Given the description of an element on the screen output the (x, y) to click on. 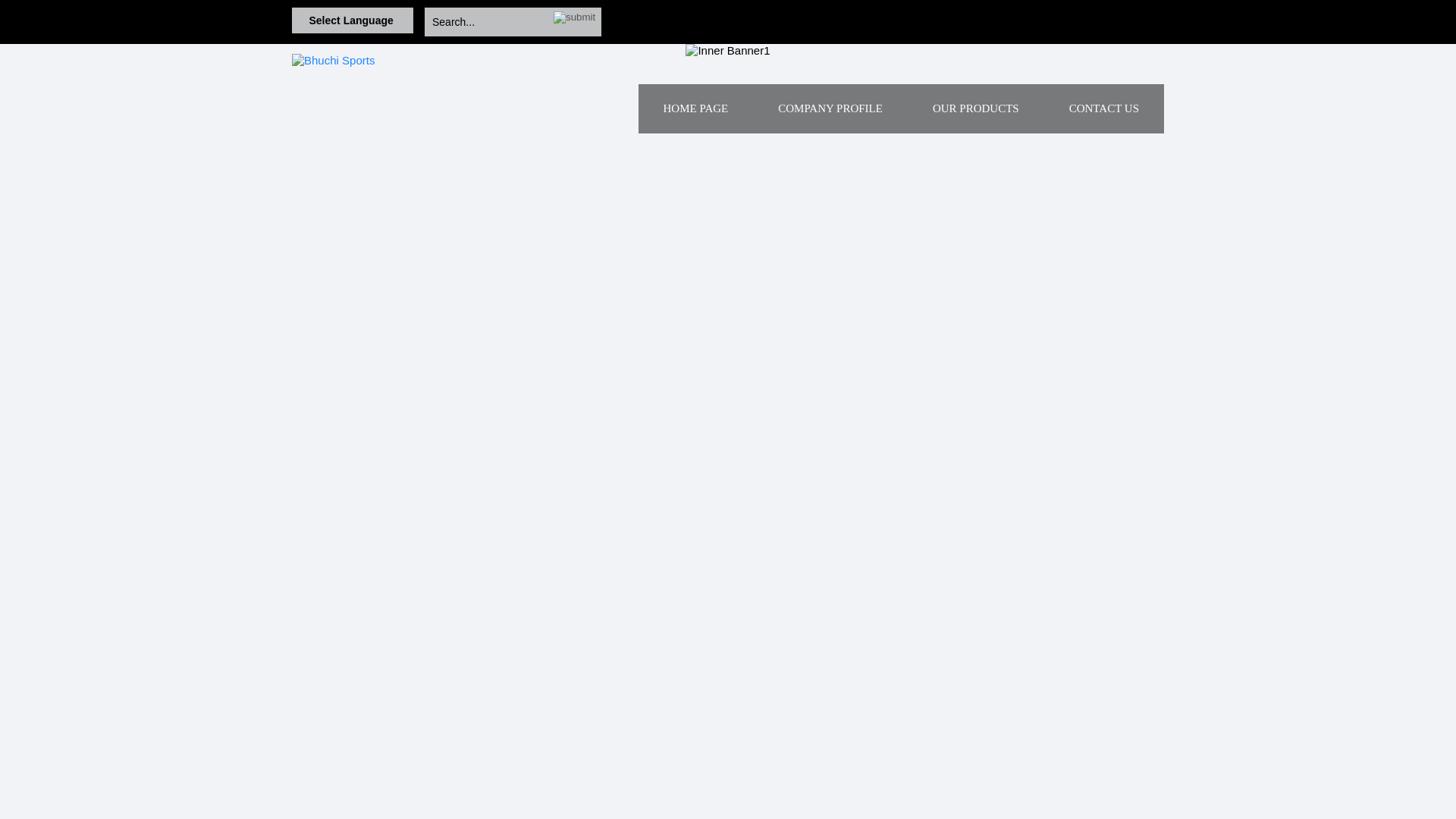
submit (574, 17)
Search... (489, 21)
Bhuchi Sports (333, 60)
Select Language (351, 20)
